Given the description of an element on the screen output the (x, y) to click on. 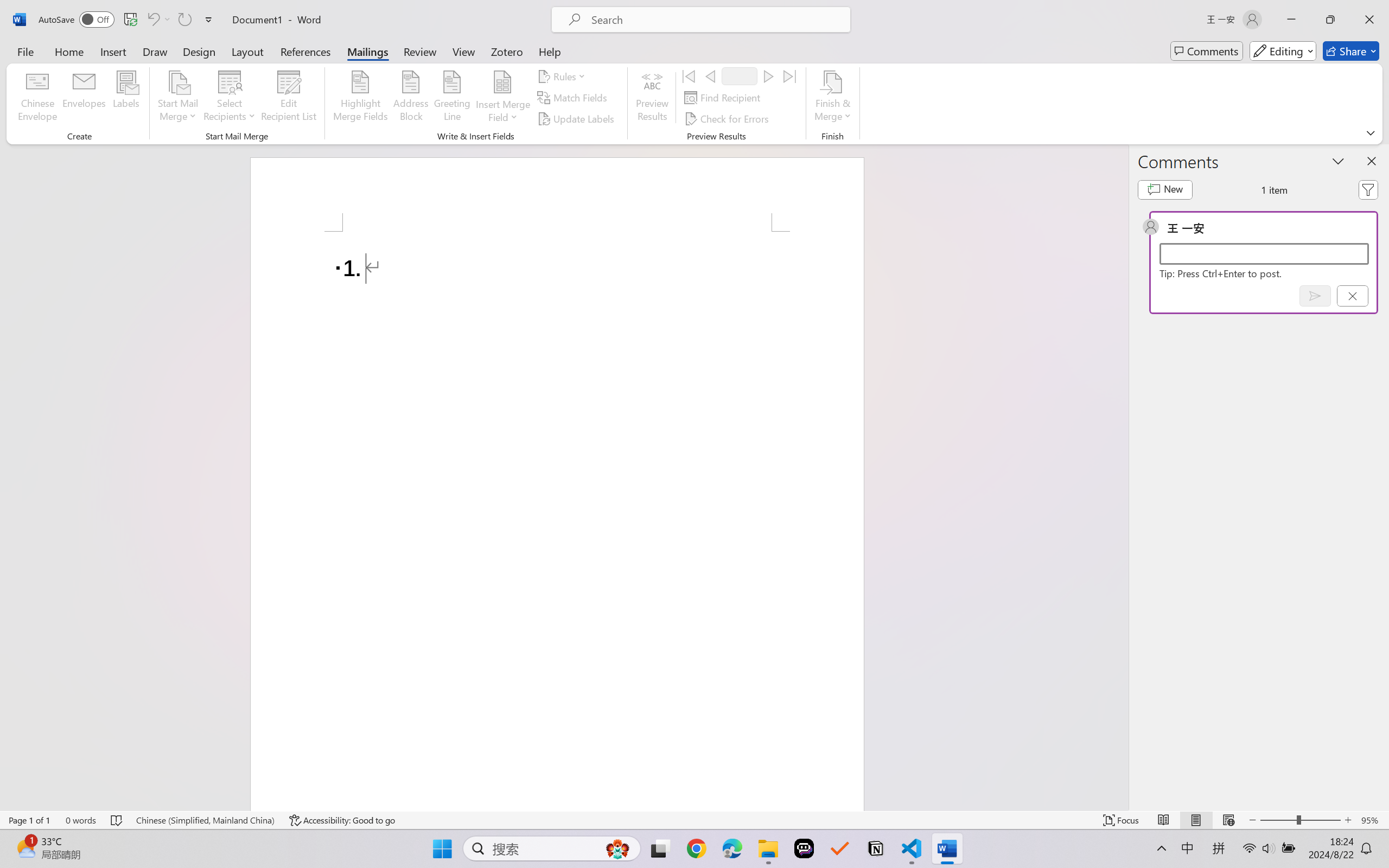
Format Painter (55, 77)
Isosceles Triangle (528, 60)
Align Left (333, 71)
Czech (detected) (1258, 136)
Text Direction (453, 47)
Zoom 376% (1364, 837)
